Given the description of an element on the screen output the (x, y) to click on. 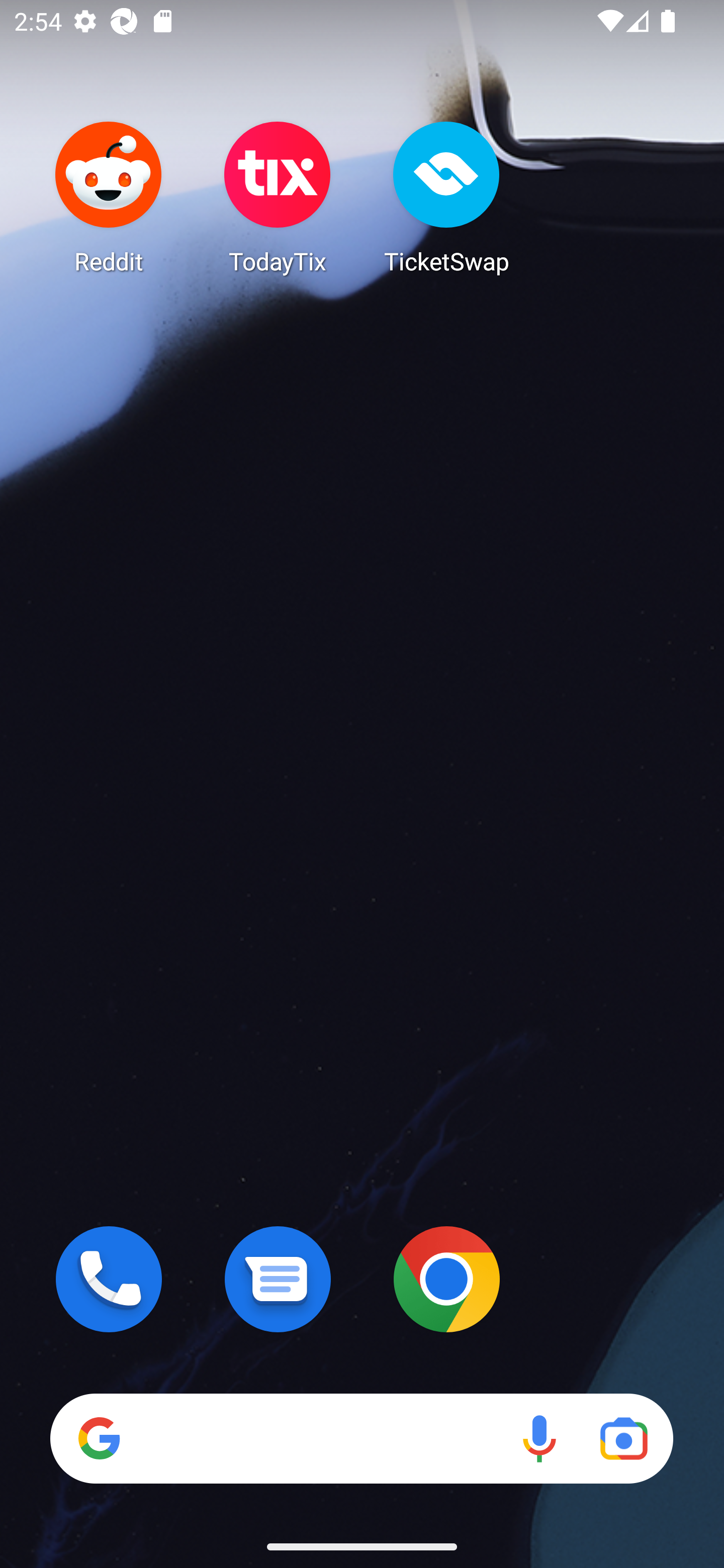
Reddit (108, 196)
TodayTix (277, 196)
TicketSwap (445, 196)
Phone (108, 1279)
Messages (277, 1279)
Chrome (446, 1279)
Voice search (539, 1438)
Google Lens (623, 1438)
